Given the description of an element on the screen output the (x, y) to click on. 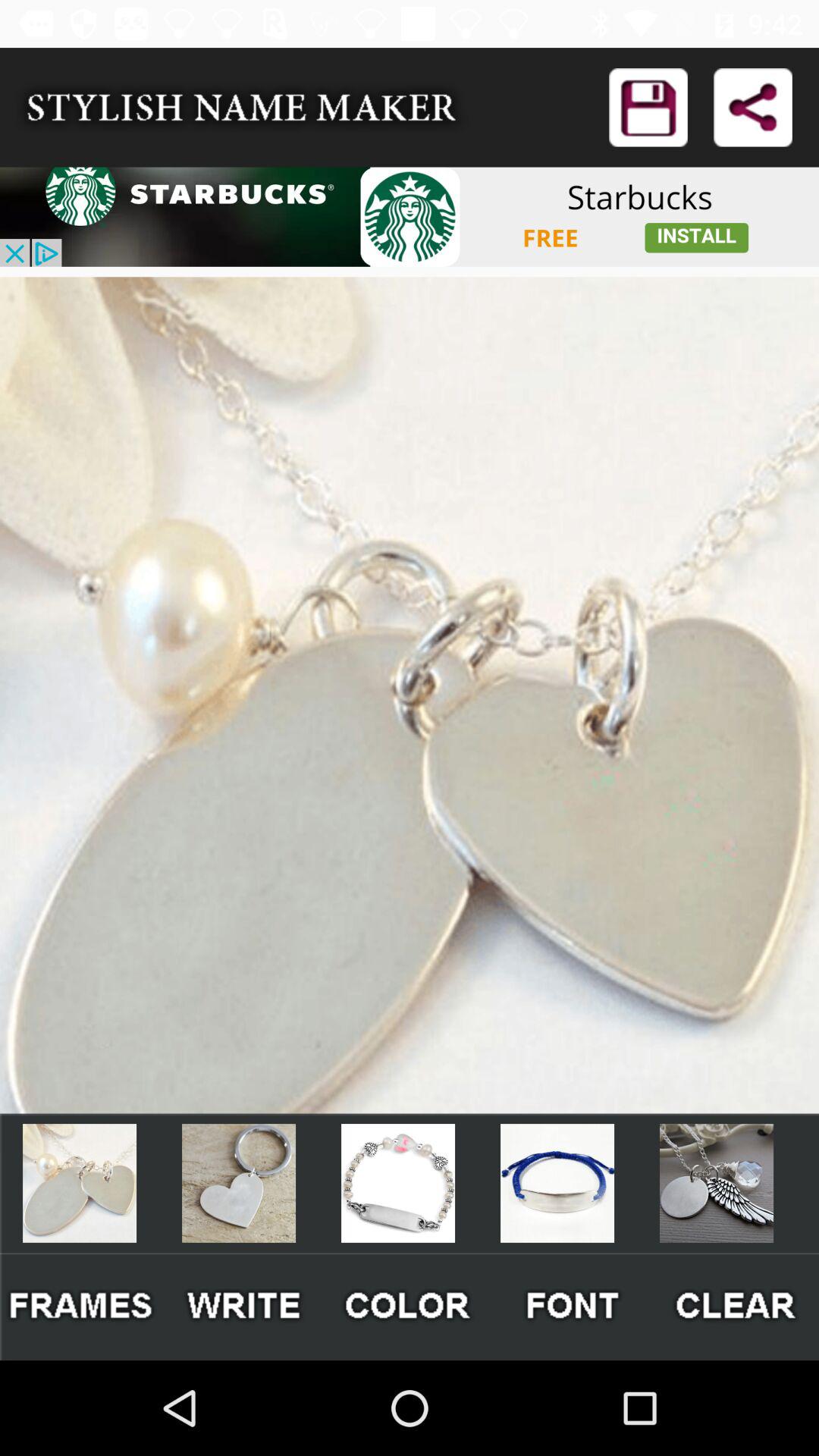
logon (648, 107)
